Given the description of an element on the screen output the (x, y) to click on. 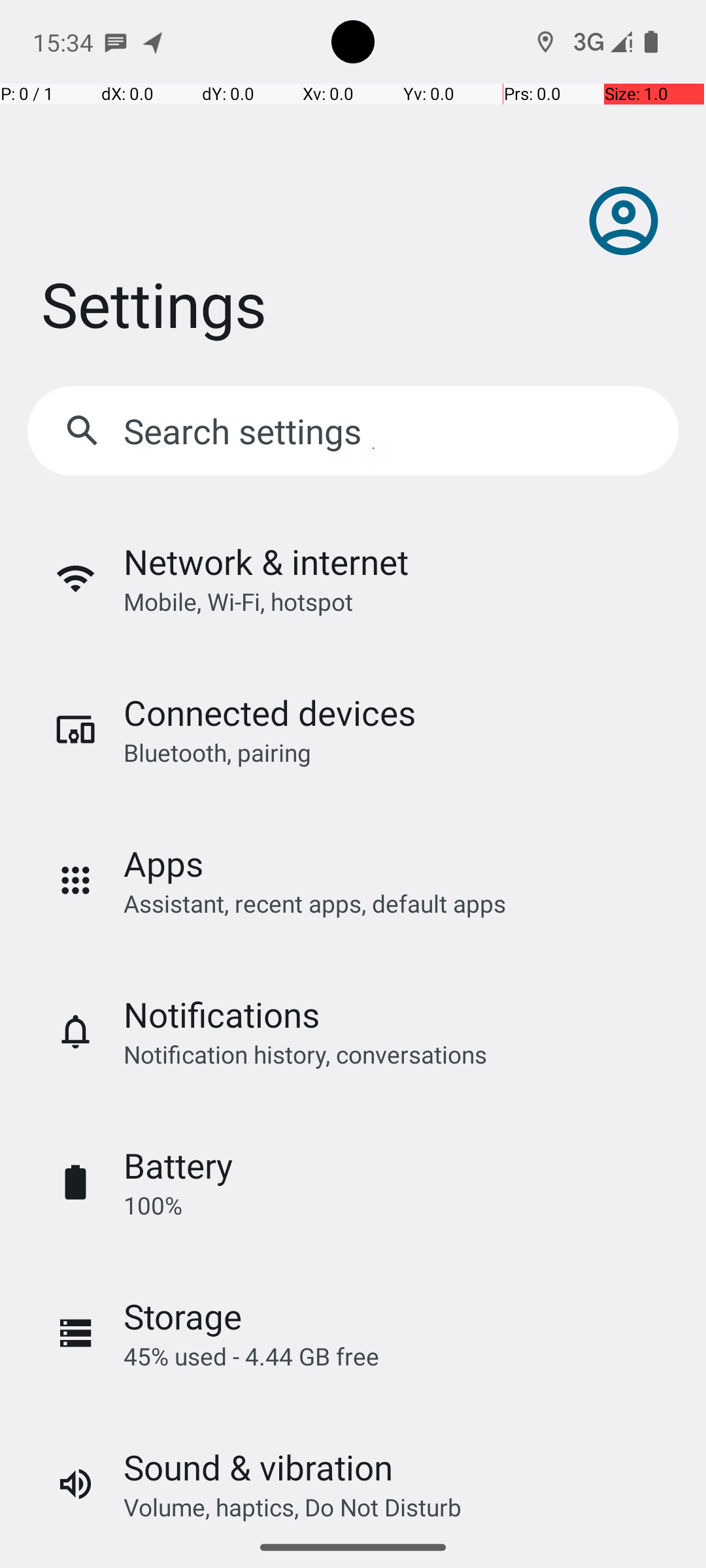
45% used - 4.44 GB free Element type: android.widget.TextView (251, 1355)
